Given the description of an element on the screen output the (x, y) to click on. 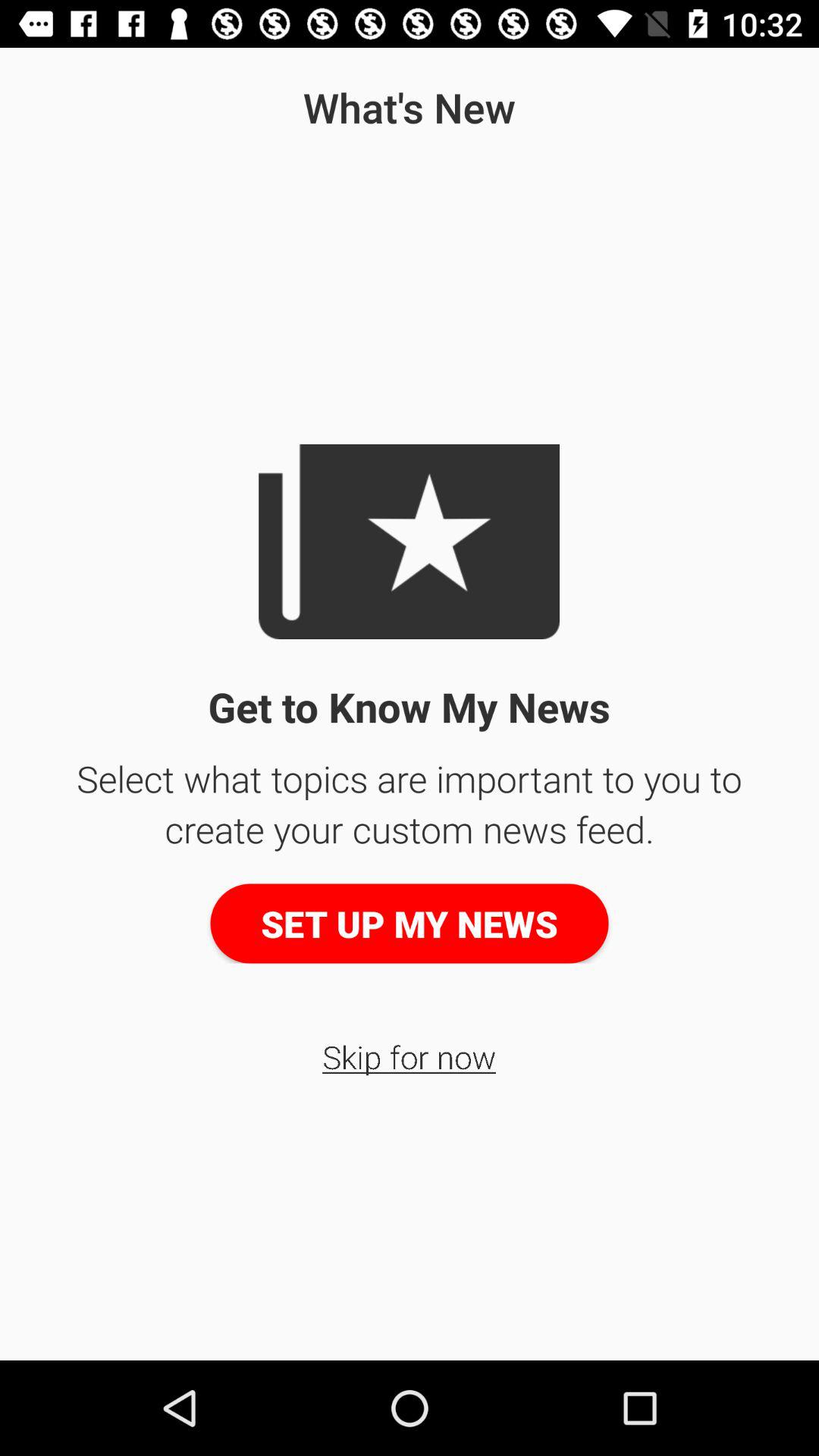
turn off app above the skip for now (409, 923)
